Given the description of an element on the screen output the (x, y) to click on. 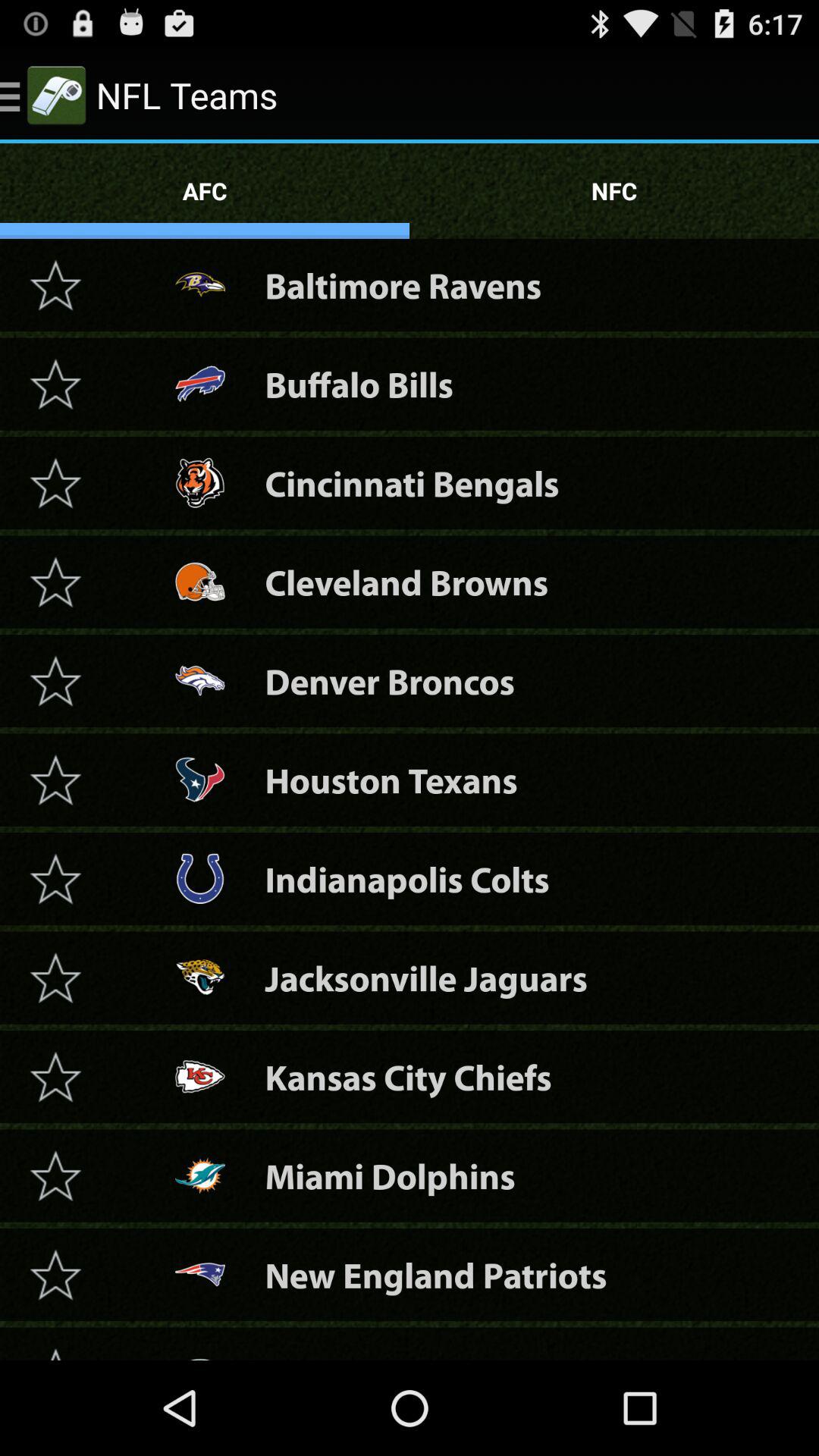
scroll until cleveland browns app (406, 581)
